Given the description of an element on the screen output the (x, y) to click on. 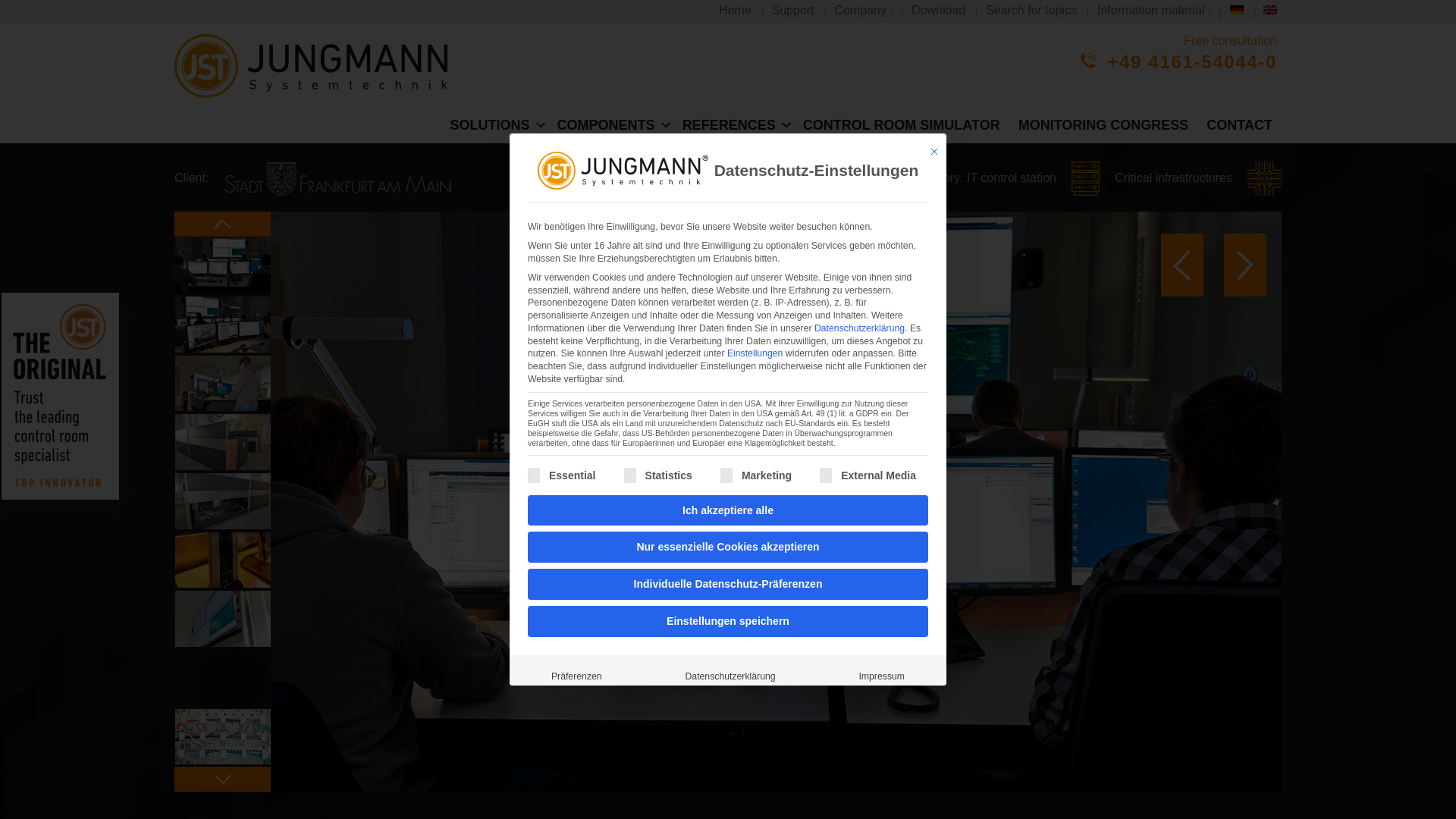
phone (1088, 60)
Search for topics (1030, 10)
COMPONENTS (610, 125)
Download (938, 10)
Company (862, 10)
Information material (1152, 10)
logo (317, 70)
SOLUTIONS (494, 125)
Home (734, 10)
Support (792, 10)
logo (317, 65)
